Given the description of an element on the screen output the (x, y) to click on. 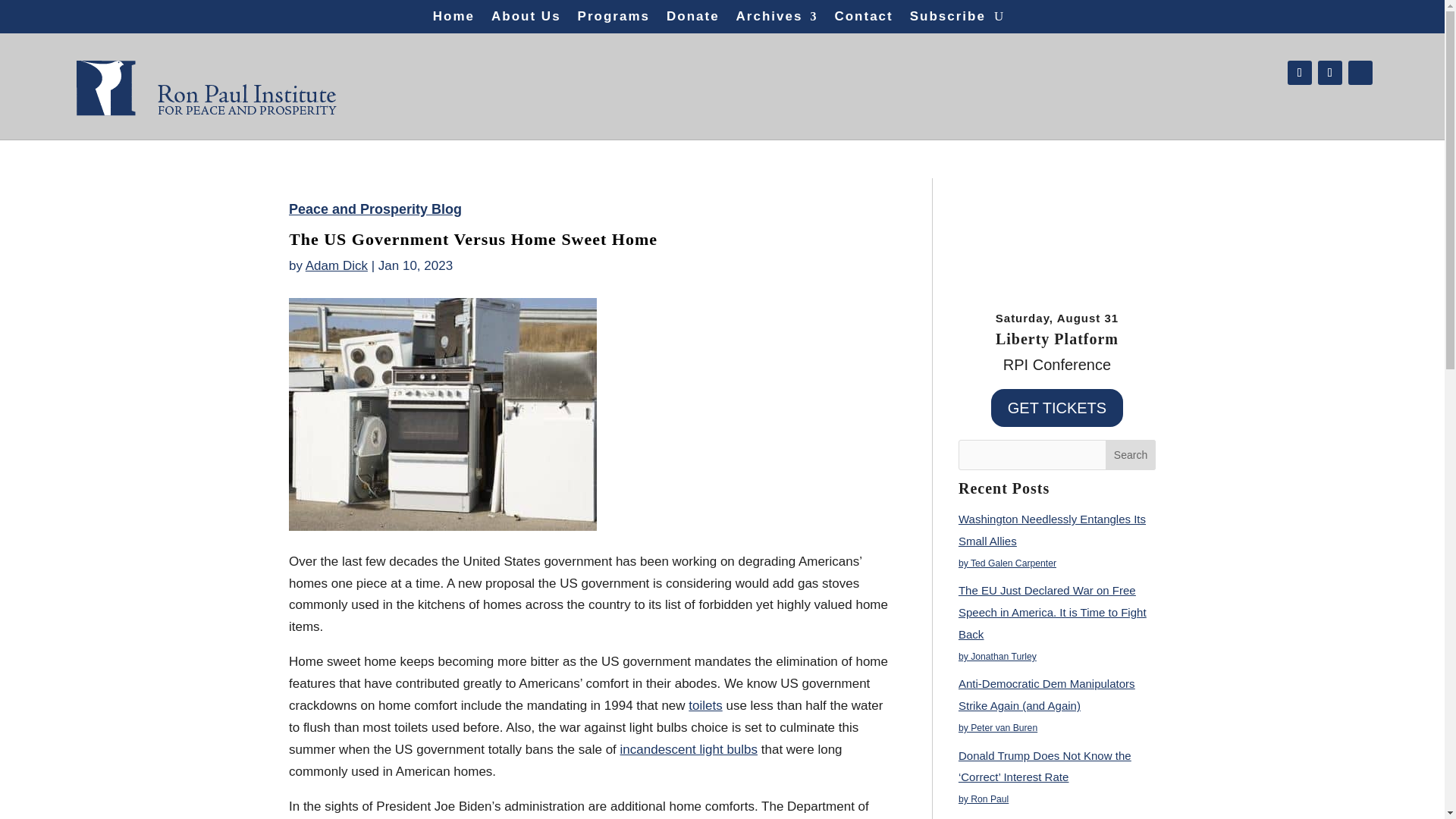
Adam Dick (336, 265)
incandescent light bulbs (688, 749)
rpilogo-final (206, 81)
Posts by Adam Dick (336, 265)
toilets (705, 705)
Programs (613, 19)
About Us (526, 19)
Follow on X (1329, 72)
Contact (863, 19)
Archives (777, 19)
